Given the description of an element on the screen output the (x, y) to click on. 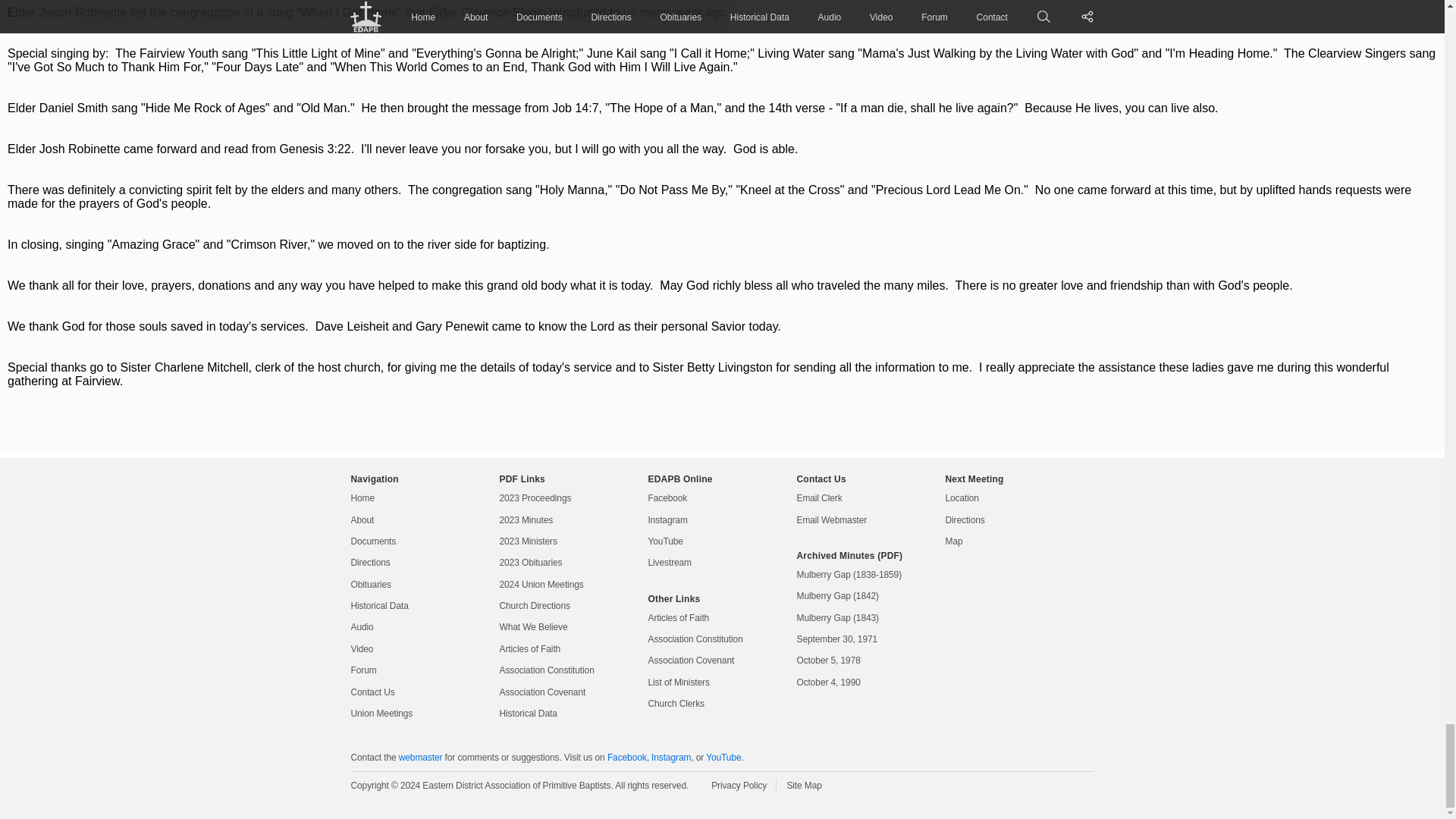
Home (362, 498)
2023 Proceedings (534, 498)
Contact Us (372, 692)
Video (361, 648)
Union Meetings (381, 713)
Documents (373, 541)
Obituaries (370, 584)
Directions (370, 562)
Audio (361, 626)
Forum (362, 670)
About (362, 520)
Historical Data (378, 605)
2023 Minutes (526, 520)
